Given the description of an element on the screen output the (x, y) to click on. 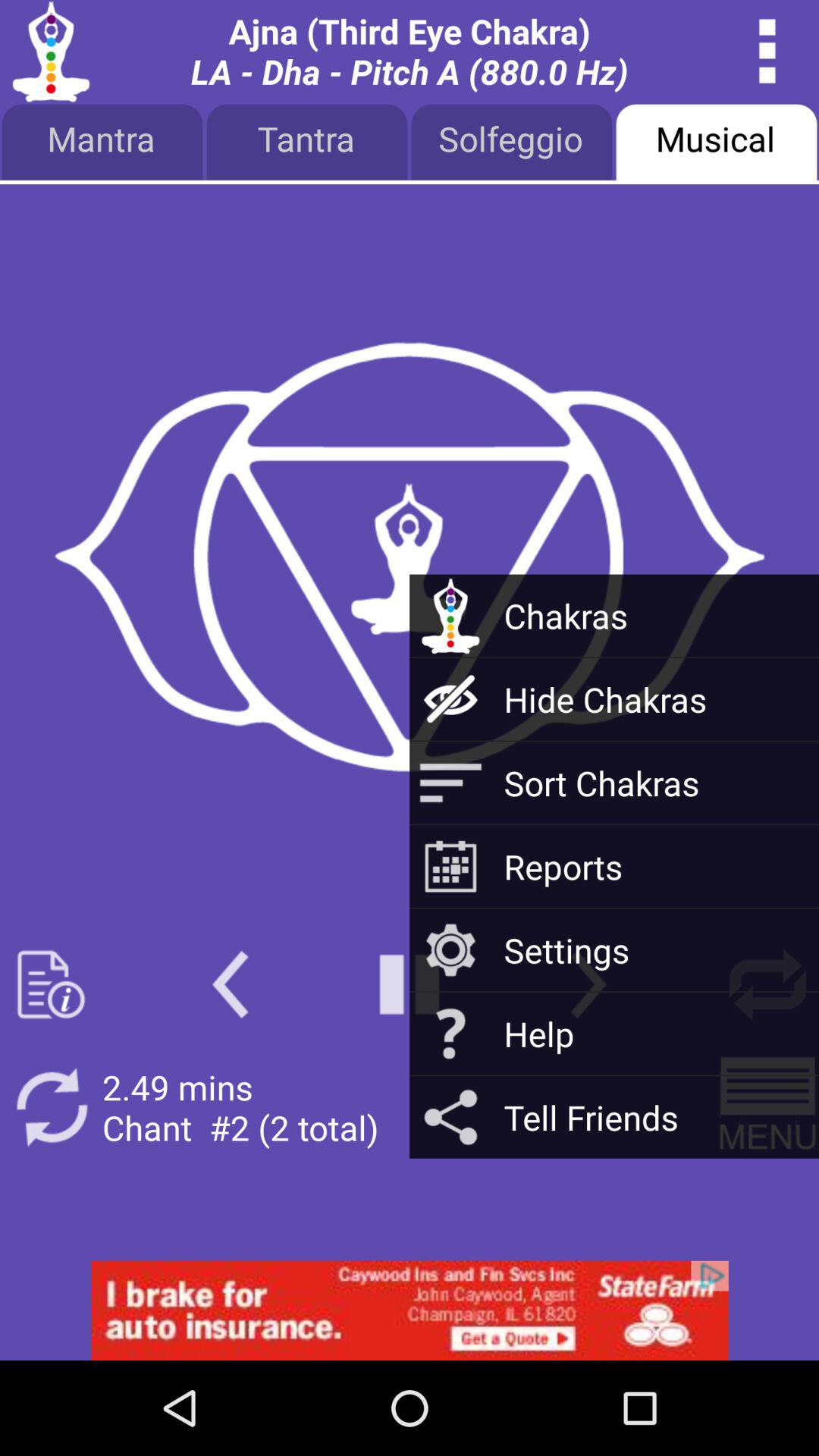
loop button (767, 984)
